Given the description of an element on the screen output the (x, y) to click on. 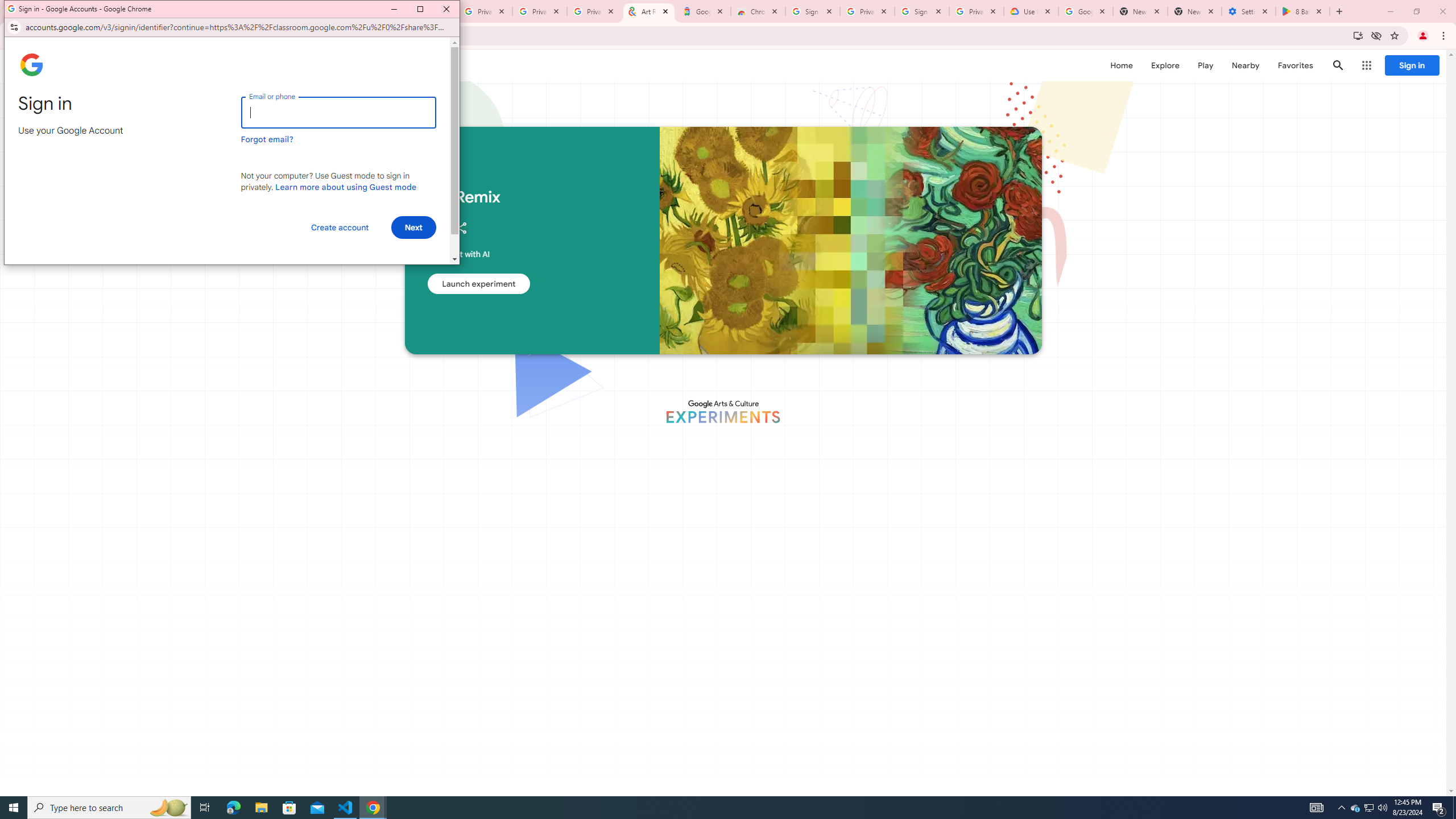
Chrome Web Store - Color themes by Chrome (757, 11)
New Tab (1194, 11)
Action Center, 2 new notifications (1439, 807)
Running applications (717, 807)
Start (13, 807)
Close Experiment (1368, 807)
Forgot email? (1423, 71)
Sign in - Google Accounts (267, 139)
